Given the description of an element on the screen output the (x, y) to click on. 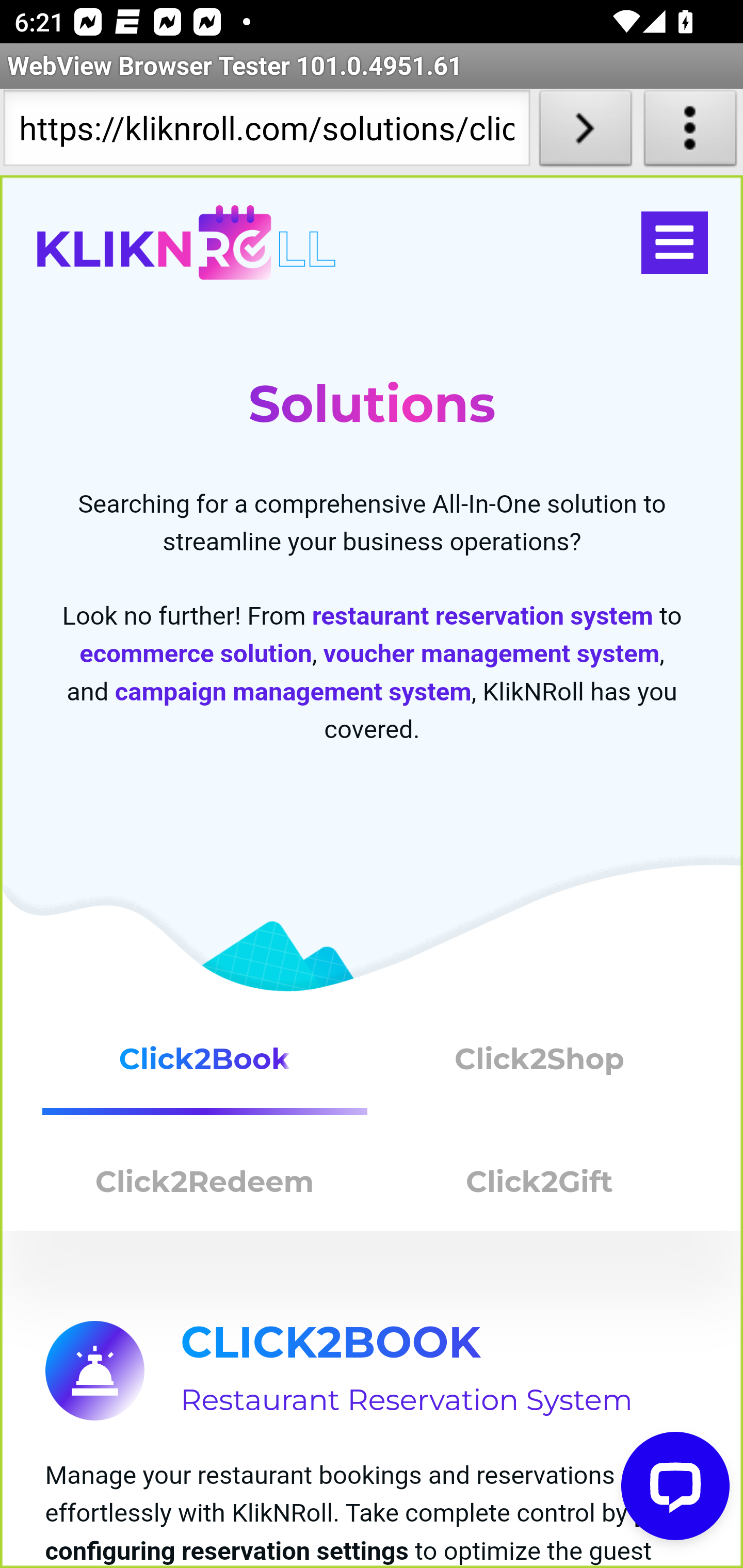
Load URL (585, 132)
About WebView (690, 132)
kliknroll (185, 242)
 (673, 242)
Click2Book (204, 1066)
Click2Shop (540, 1066)
Click2Redeem (204, 1185)
Click2Gift (540, 1185)
Open LiveChat chat widget (676, 1486)
